Given the description of an element on the screen output the (x, y) to click on. 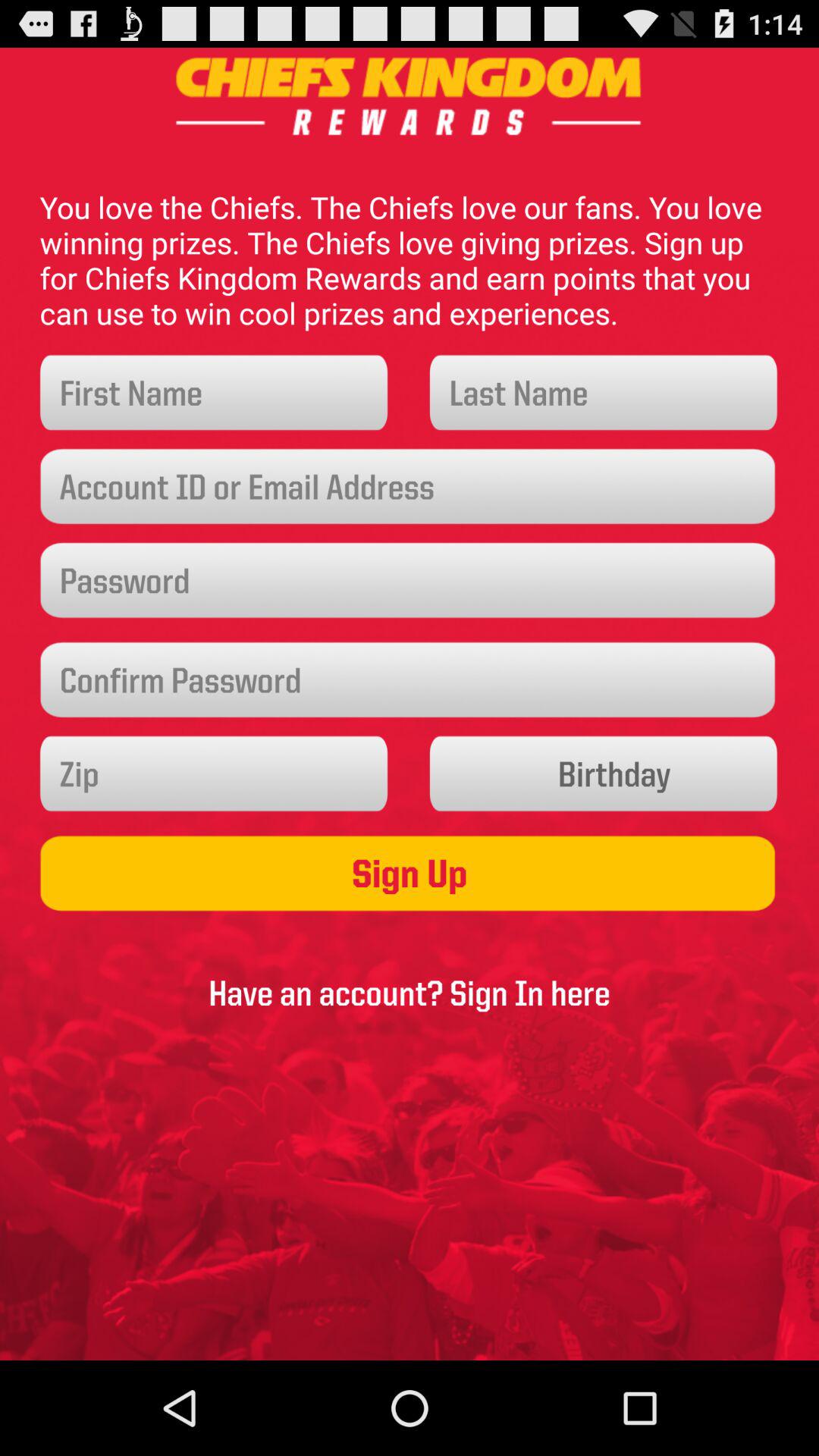
enter name field (214, 392)
